Given the description of an element on the screen output the (x, y) to click on. 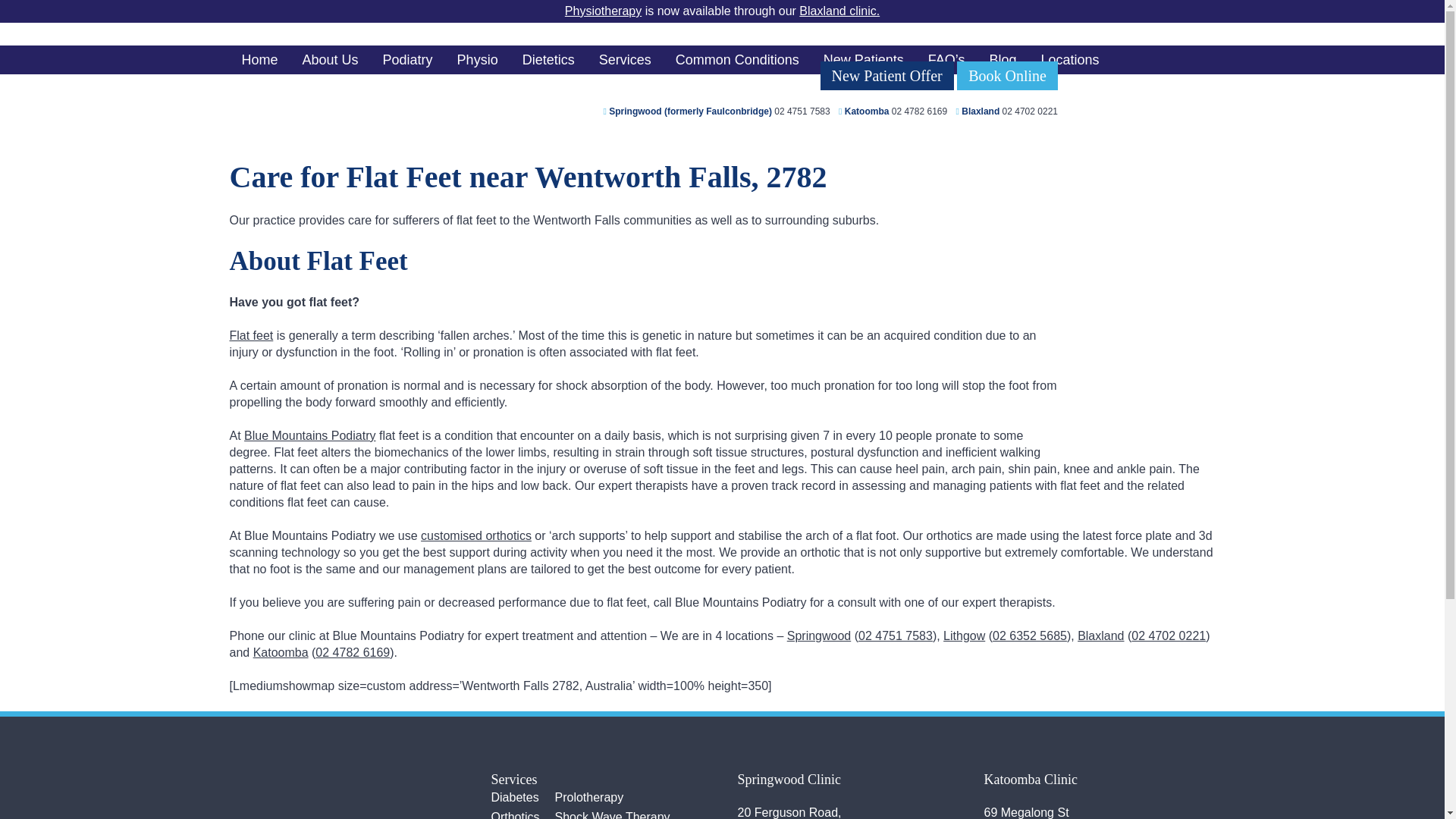
Home (258, 59)
flat feet Wentworth Falls, 2782 (1146, 386)
New Patient Offer (887, 74)
02 4702 0221 (1030, 111)
Physio (478, 59)
02 4782 6169 (919, 111)
About Us (330, 59)
Common Conditions (736, 59)
02 4751 7583 (801, 111)
Dietetics (548, 59)
Blaxland clinic. (839, 10)
Physiotherapy (603, 10)
Book Online (1007, 74)
Podiatry (408, 59)
Services (624, 59)
